Given the description of an element on the screen output the (x, y) to click on. 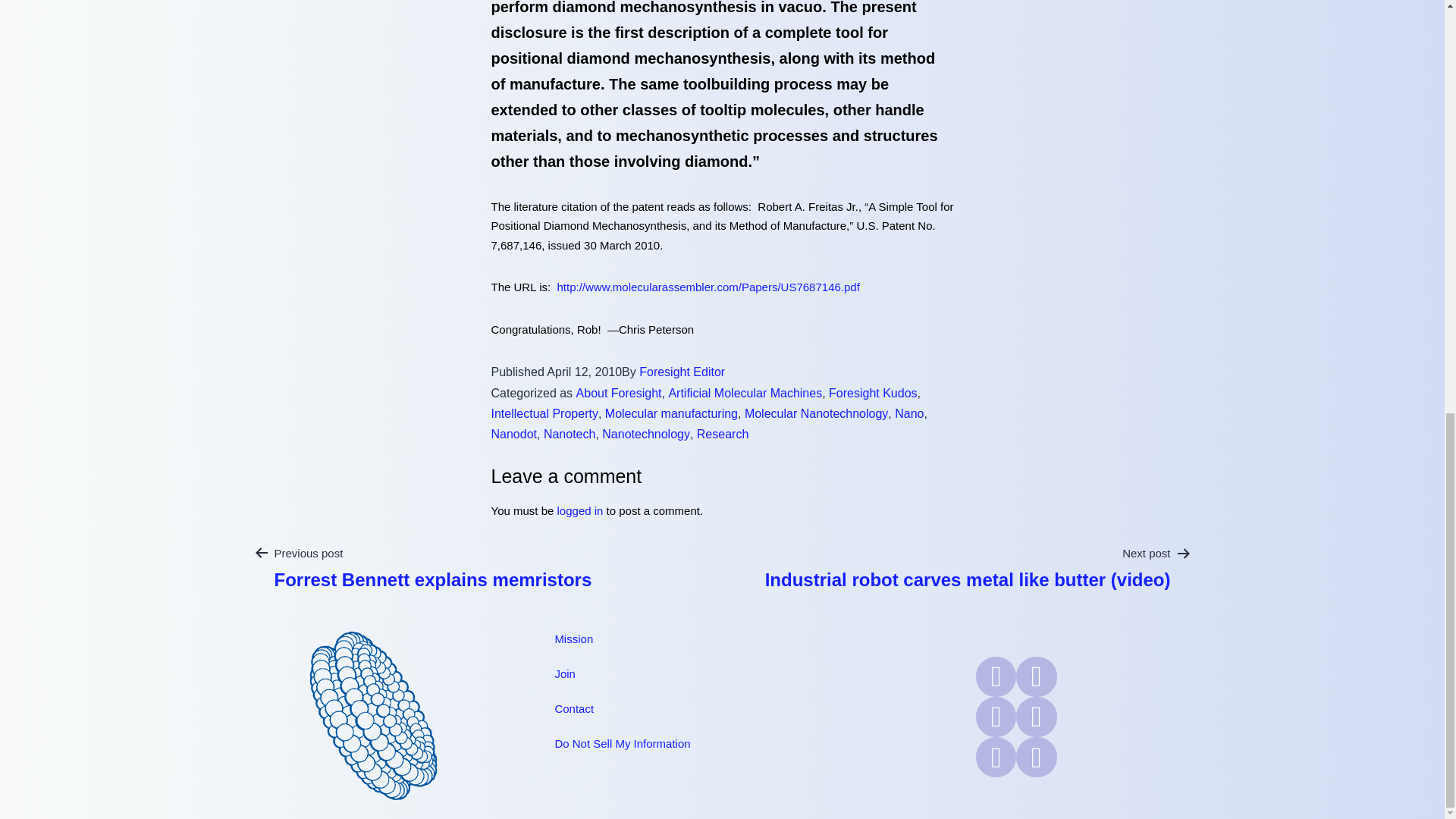
Intellectual Property (545, 413)
Foresight Kudos (872, 392)
About Foresight (619, 392)
Artificial Molecular Machines (745, 392)
Foresight Editor (682, 371)
